Given the description of an element on the screen output the (x, y) to click on. 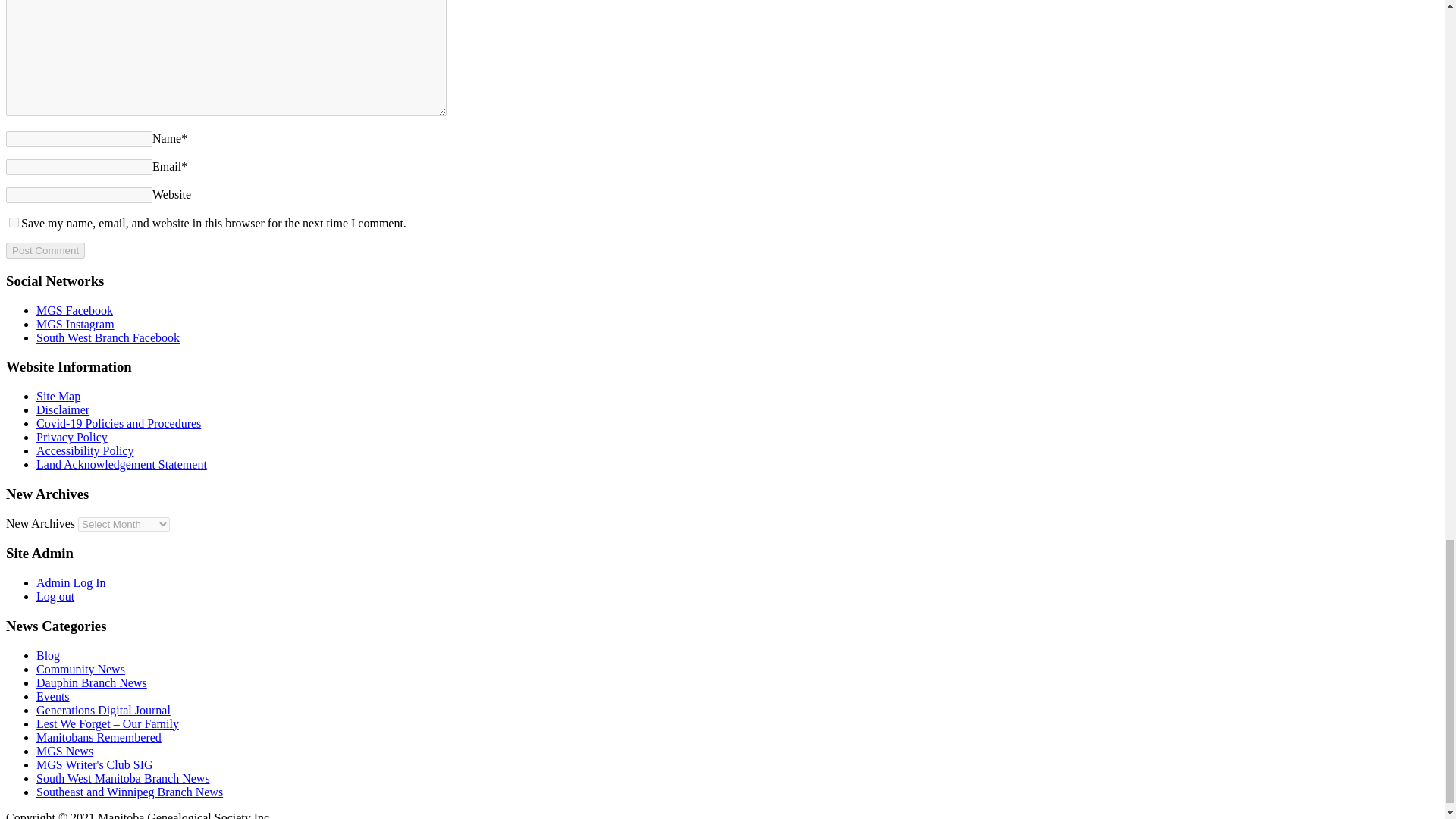
Post Comment (44, 250)
Post Comment (44, 250)
MGS Facebook (74, 309)
yes (13, 222)
